Given the description of an element on the screen output the (x, y) to click on. 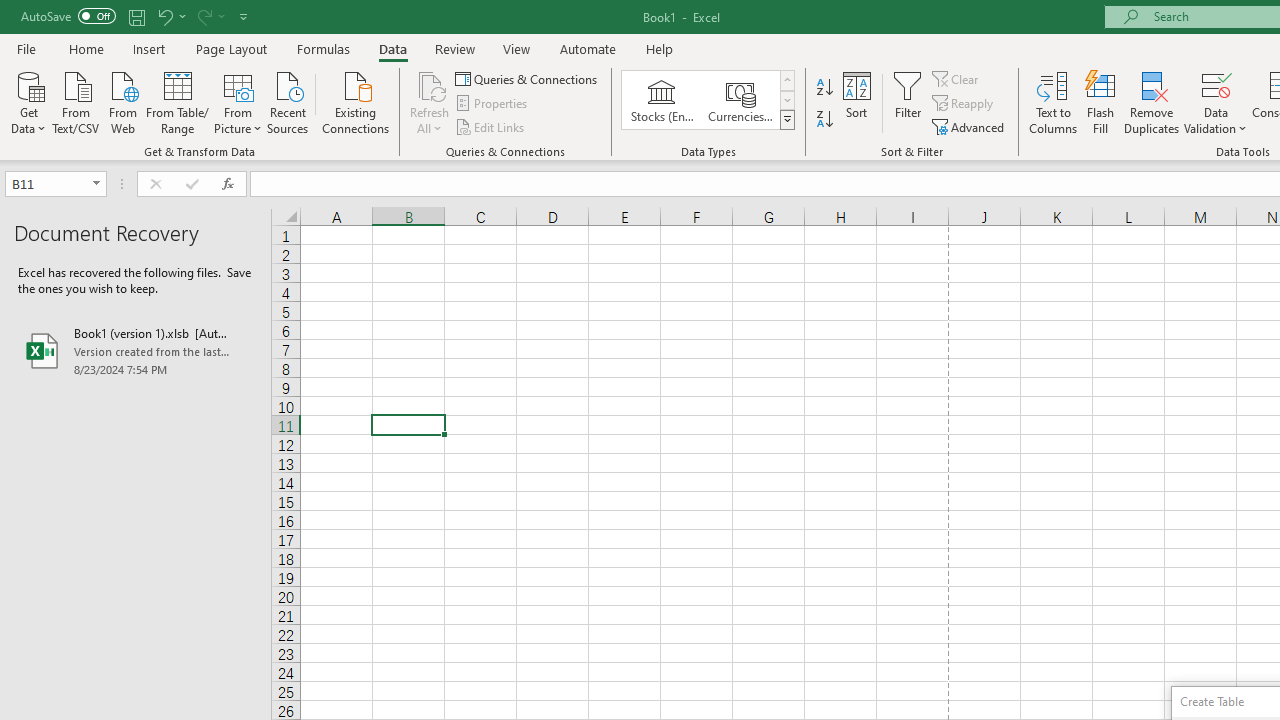
Customize Quick Access Toolbar (244, 15)
Save (136, 15)
Data Types (786, 120)
Sort Z to A (824, 119)
View (517, 48)
Queries & Connections (527, 78)
Filter (908, 102)
Advanced... (970, 126)
From Web (122, 101)
AutomationID: ConvertToLinkedEntity (708, 99)
Recent Sources (287, 101)
